Given the description of an element on the screen output the (x, y) to click on. 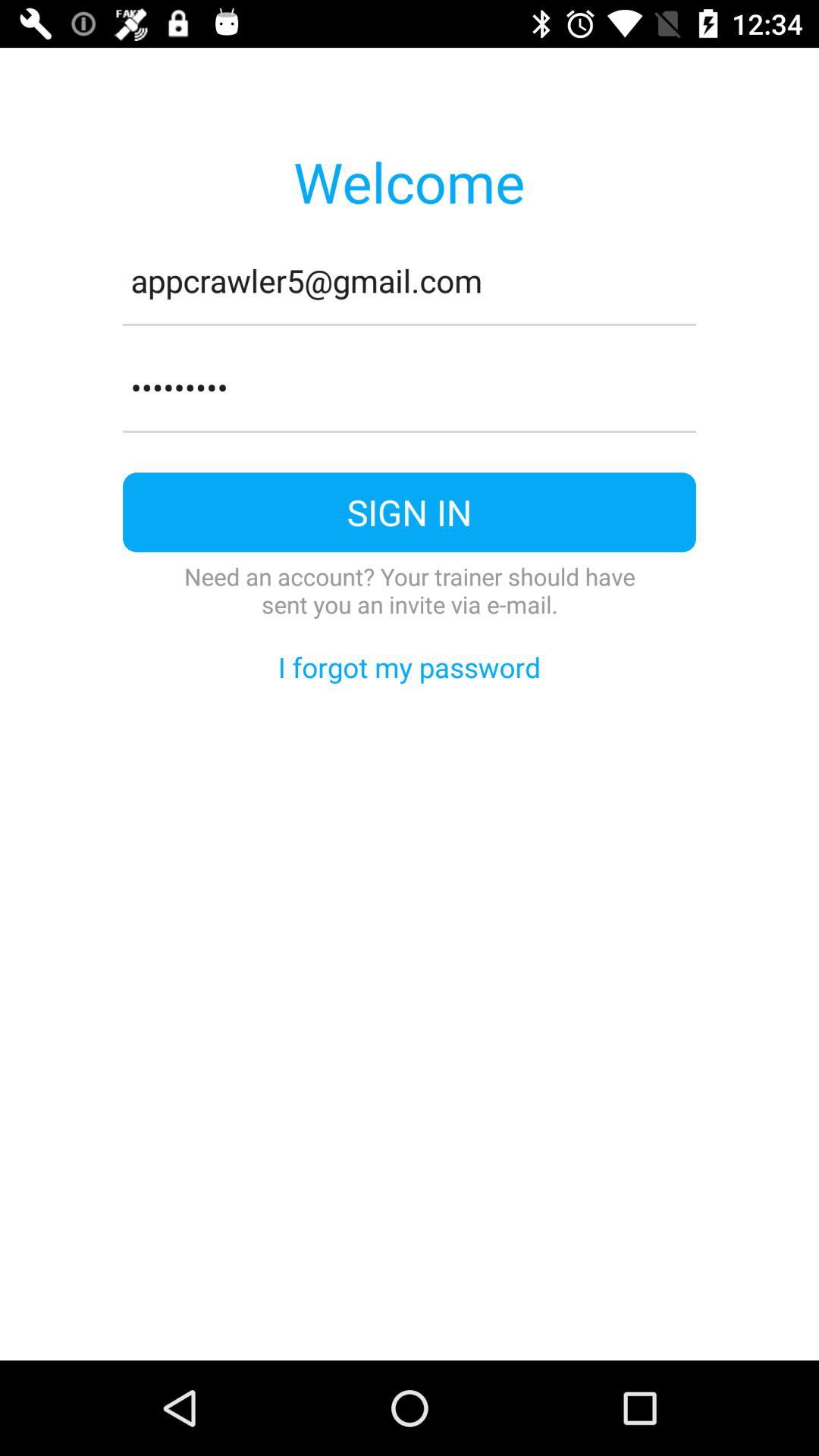
click the icon below sign in (409, 590)
